Given the description of an element on the screen output the (x, y) to click on. 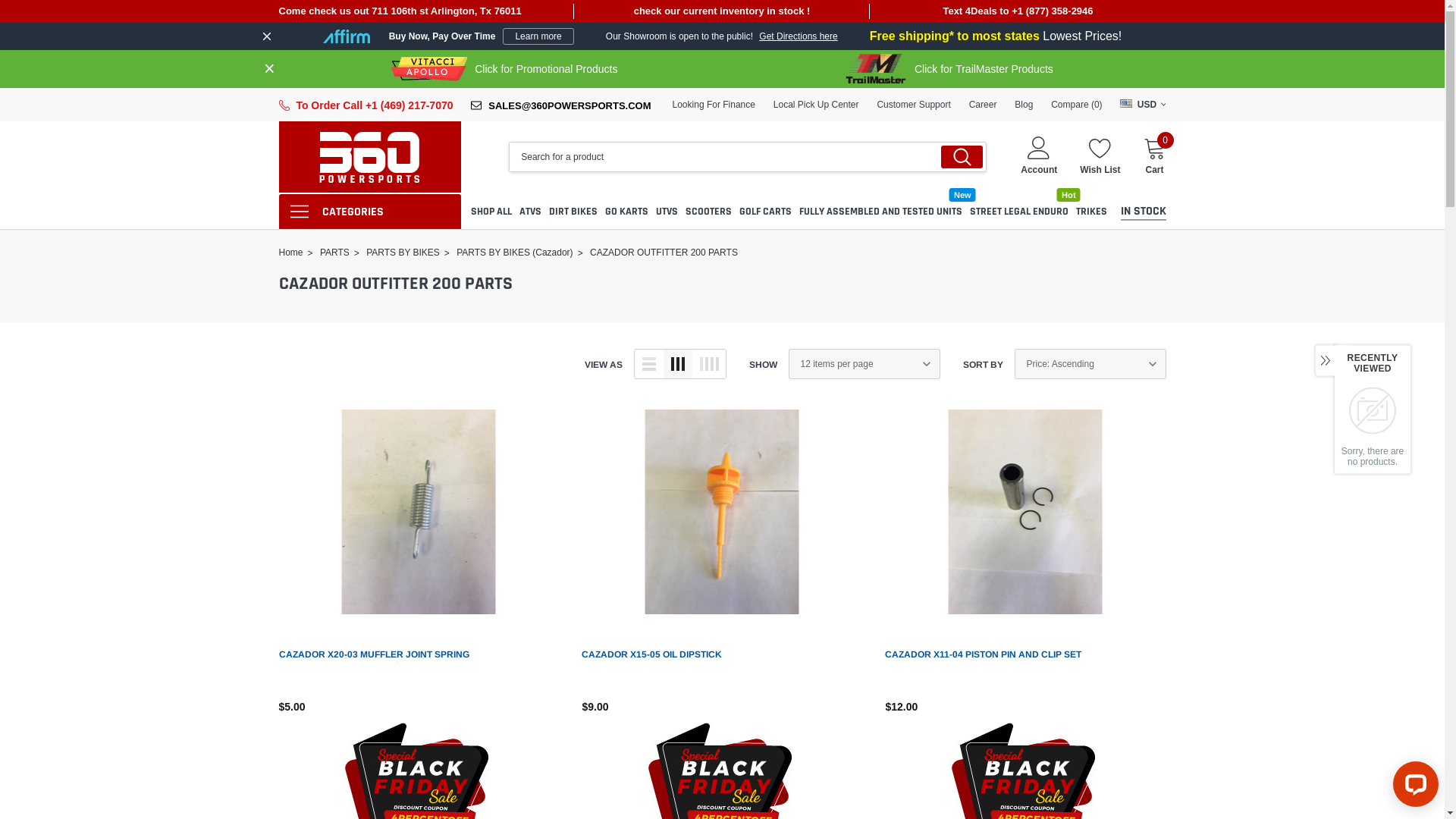
TRIKES Element type: text (1091, 210)
Text 4Deals to +1 (877) 358-2946 Element type: text (1018, 10)
CAZADOR X11-04 PISTON PIN AND CLIP SET Element type: text (982, 654)
ATVS Element type: text (530, 210)
Learn more Element type: text (537, 36)
FULLY ASSEMBLED AND TESTED UNITS
New Element type: text (880, 210)
Blog Element type: text (1023, 104)
Get Directions here Element type: text (798, 36)
CAZADOR X20-03 MUFFLER JOINT SPRING Element type: hover (418, 511)
CAZADOR X15-05 OIL DIPSTICK Element type: hover (722, 511)
PARTS Element type: text (334, 252)
Grid View 4 Element type: hover (707, 363)
Career Element type: text (983, 104)
Account Element type: text (1038, 169)
GOLF CARTS Element type: text (765, 210)
Wish List Element type: text (1099, 156)
Click for TrailMaster Products Element type: text (948, 68)
STREET LEGAL ENDURO
Hot Element type: text (1018, 210)
PARTS BY BIKES Element type: text (402, 252)
IN STOCK Element type: text (1143, 210)
check our current inventory in stock ! Element type: text (722, 10)
Compare (0) Element type: text (1076, 104)
Click for Promotional Products Element type: text (504, 68)
Free shipping* to most states Lowest Prices! Element type: text (995, 35)
USD Element type: text (1142, 104)
Looking For Finance Element type: text (713, 104)
Local Pick Up Center Element type: text (816, 104)
UTVS Element type: text (666, 210)
PARTS BY BIKES (Cazador) Element type: text (514, 252)
Come check us out 711 106th st Arlington, Tx 76011 Element type: text (426, 10)
0
Cart Element type: text (1154, 156)
Grid View 3 Element type: hover (676, 363)
360Powersports.com Element type: hover (370, 156)
GO KARTS Element type: text (626, 210)
SALES@360POWERSPORTS.COM Element type: text (569, 105)
Customer Support Element type: text (913, 104)
CAZADOR X20-03 MUFFLER JOINT SPRING Element type: text (374, 654)
SCOOTERS Element type: text (708, 210)
DIRT BIKES Element type: text (573, 210)
CAZADOR X15-05 OIL DIPSTICK Element type: text (651, 654)
SHOP ALL Element type: text (490, 210)
CAZADOR X11-04 PISTON PIN AND CLIP SET Element type: hover (1025, 511)
Home Element type: text (291, 252)
List View Element type: hover (647, 363)
To Order Call +1 (469) 217-7070 Element type: text (373, 105)
